Given the description of an element on the screen output the (x, y) to click on. 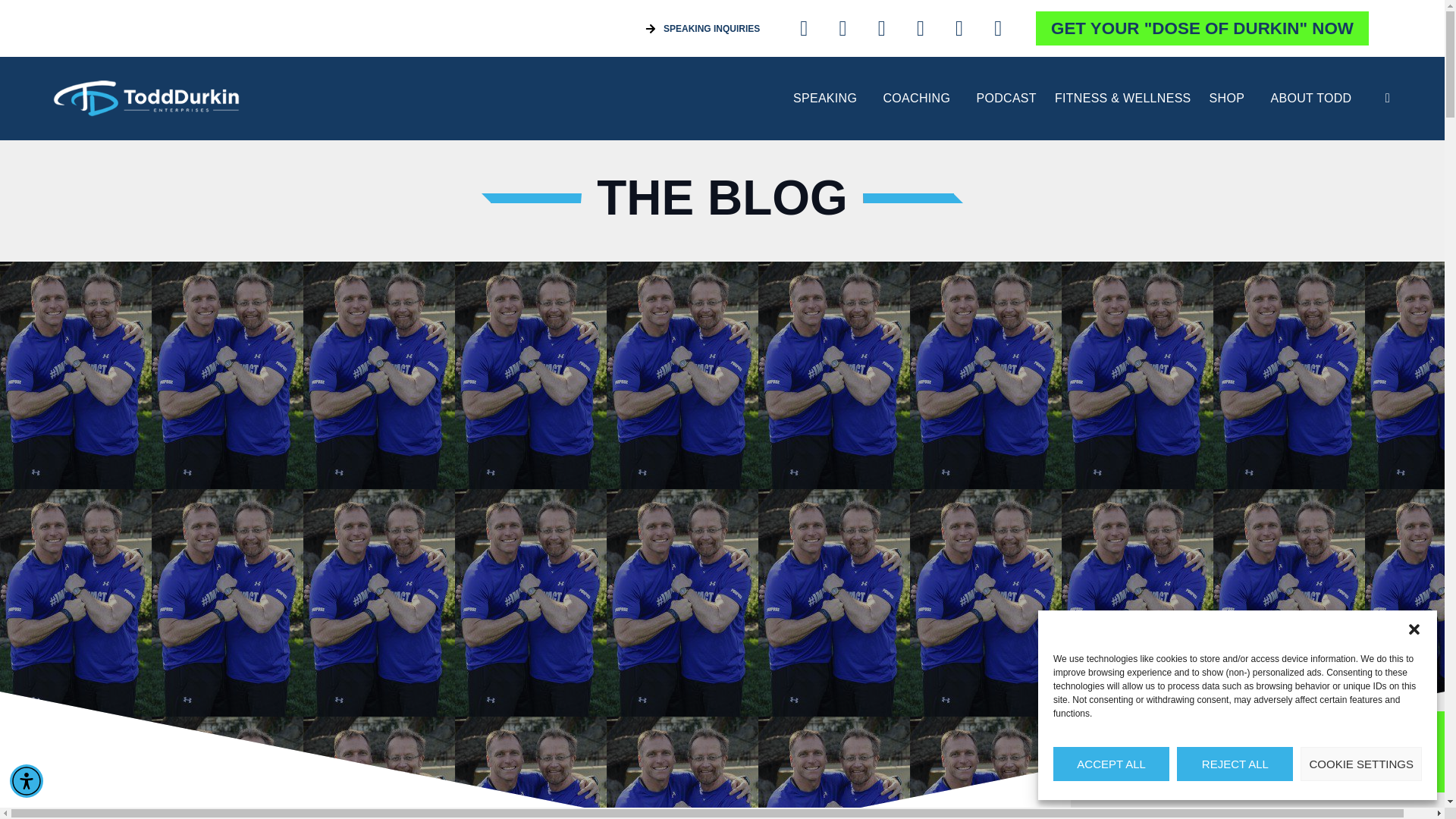
SPEAKING INQUIRIES (702, 28)
REJECT ALL (1234, 763)
PODCAST (1005, 98)
ACCEPT ALL (1110, 763)
COOKIE SETTINGS (1361, 763)
Accessibility Menu (26, 780)
COACHING (920, 98)
SHOP (1230, 98)
SPEAKING (828, 98)
GET YOUR "DOSE OF DURKIN" NOW (1201, 28)
